Given the description of an element on the screen output the (x, y) to click on. 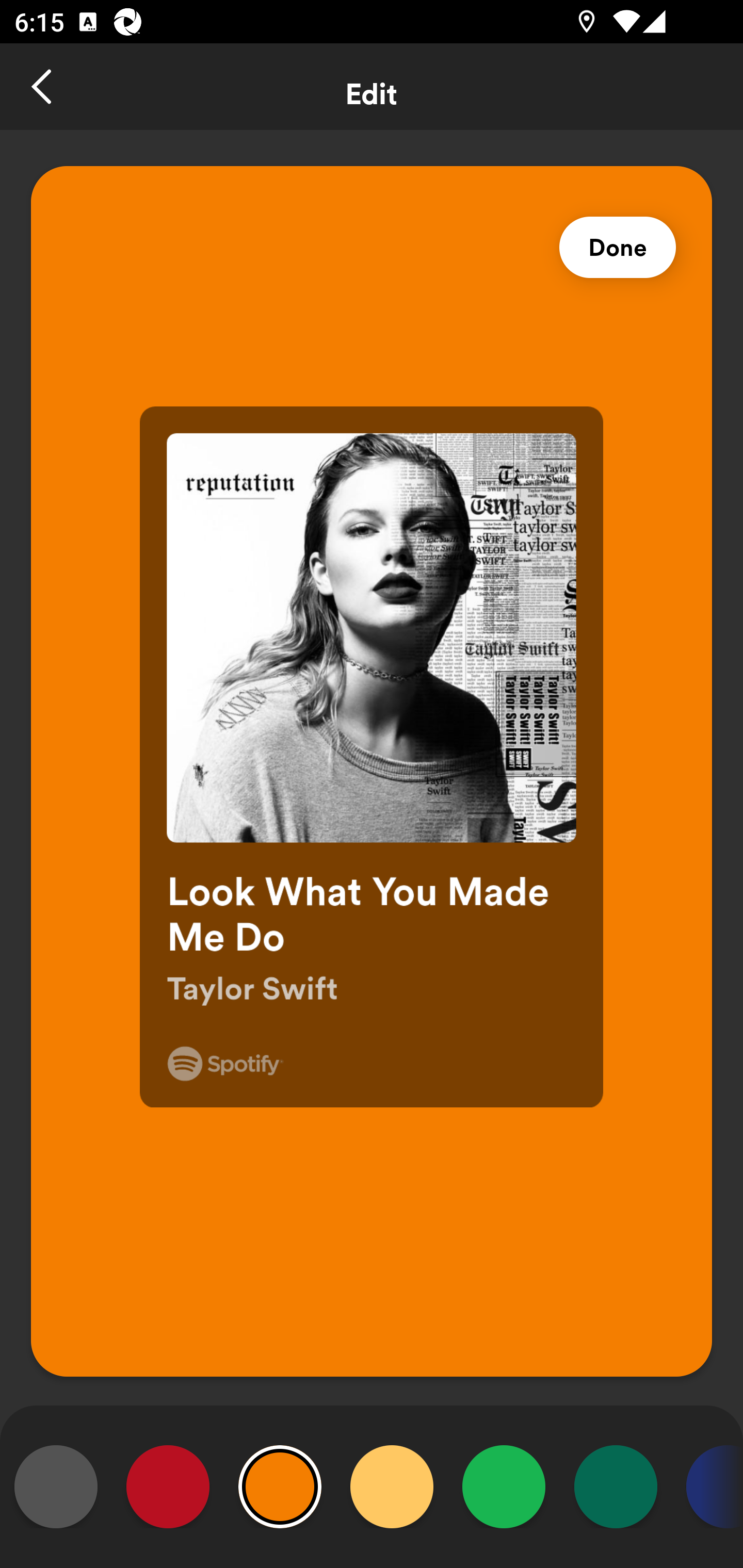
Close the Now Playing View (43, 86)
Done (617, 247)
